Given the description of an element on the screen output the (x, y) to click on. 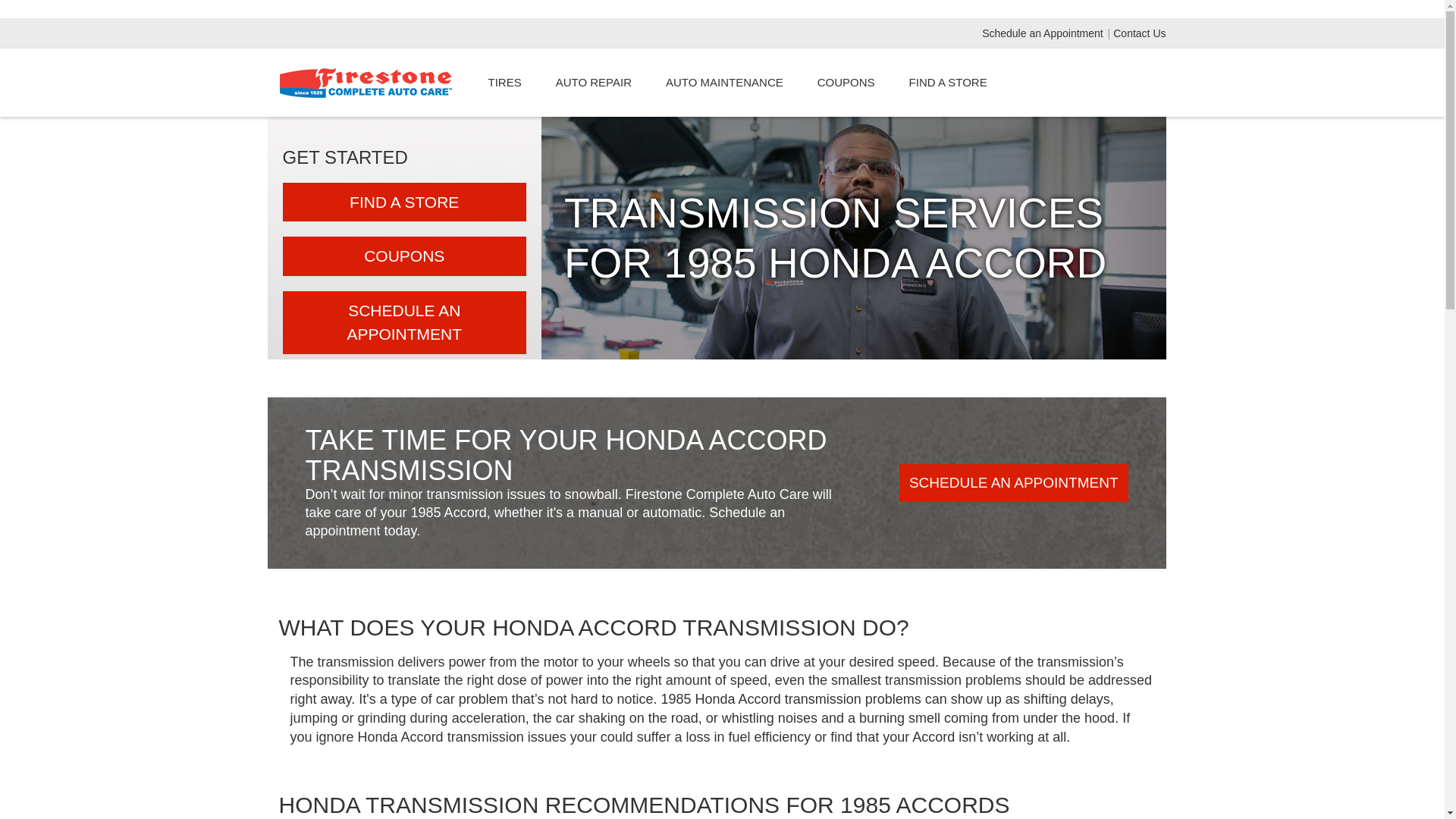
SCHEDULE AN APPOINTMENT (403, 322)
TIRES (504, 82)
FIND A STORE (403, 201)
Schedule an Appointment (1043, 33)
Firestone Complete Auto Care (365, 82)
COUPONS (845, 82)
SCHEDULE AN APPOINTMENT (1013, 483)
AUTO MAINTENANCE (724, 82)
Contact Us (1139, 33)
AUTO REPAIR (593, 82)
FIND A STORE (947, 82)
COUPONS (403, 256)
